Given the description of an element on the screen output the (x, y) to click on. 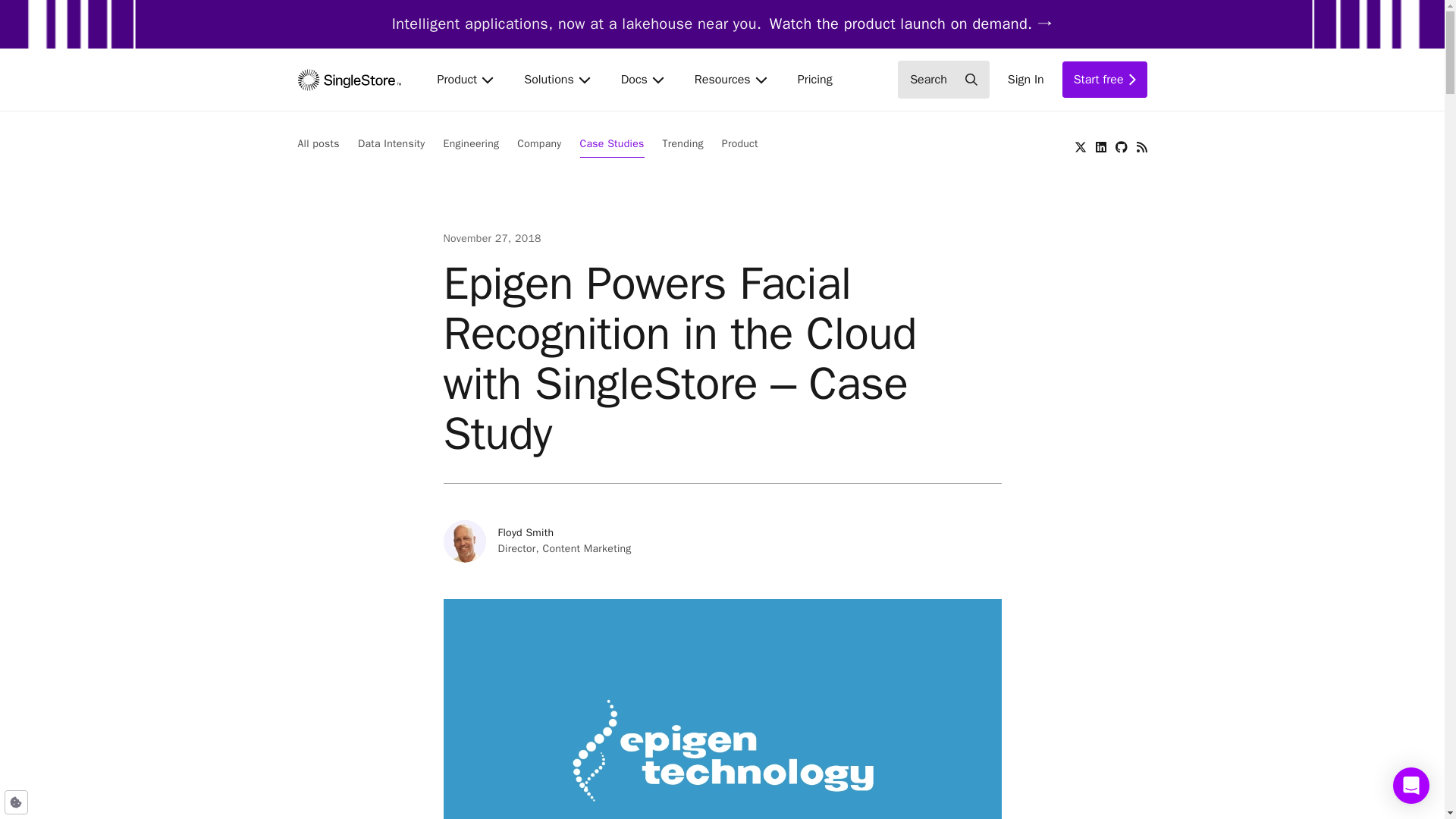
X Twitter Icon (944, 79)
Chevron Down Icon (1080, 146)
Company (721, 541)
Sign In (657, 79)
Pricing (1104, 79)
X Twitter Icon (538, 146)
Chevron Down Icon (1026, 79)
Data Intensity (465, 79)
Case Studies (815, 79)
All posts (642, 79)
